Given the description of an element on the screen output the (x, y) to click on. 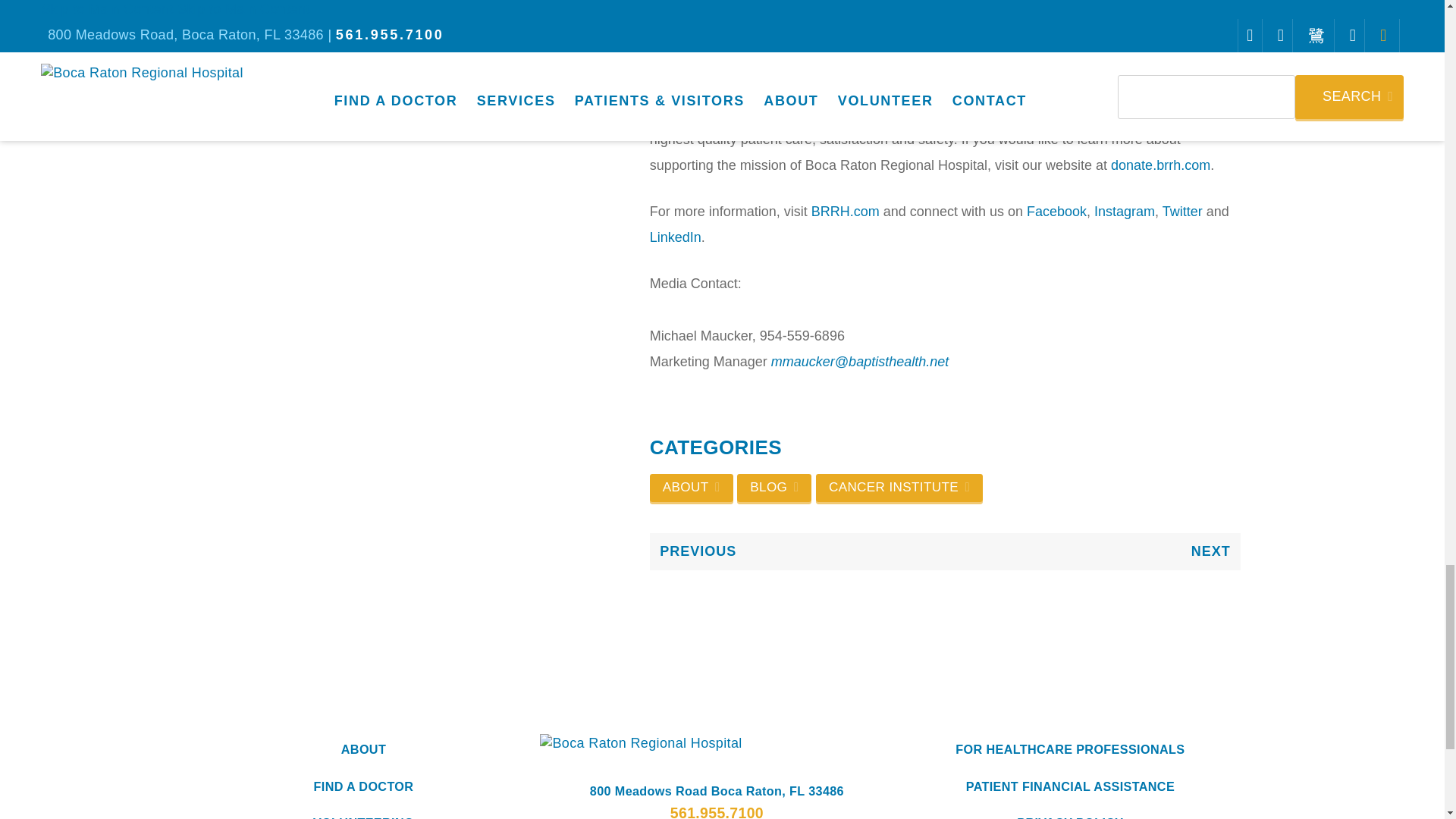
Blog Category (898, 487)
Boca Raton Regional Hospital (716, 742)
Blog Category (691, 487)
Blog Category (773, 487)
Lower Your Cancer Risk by Knowing Your Genetics (796, 551)
